Given the description of an element on the screen output the (x, y) to click on. 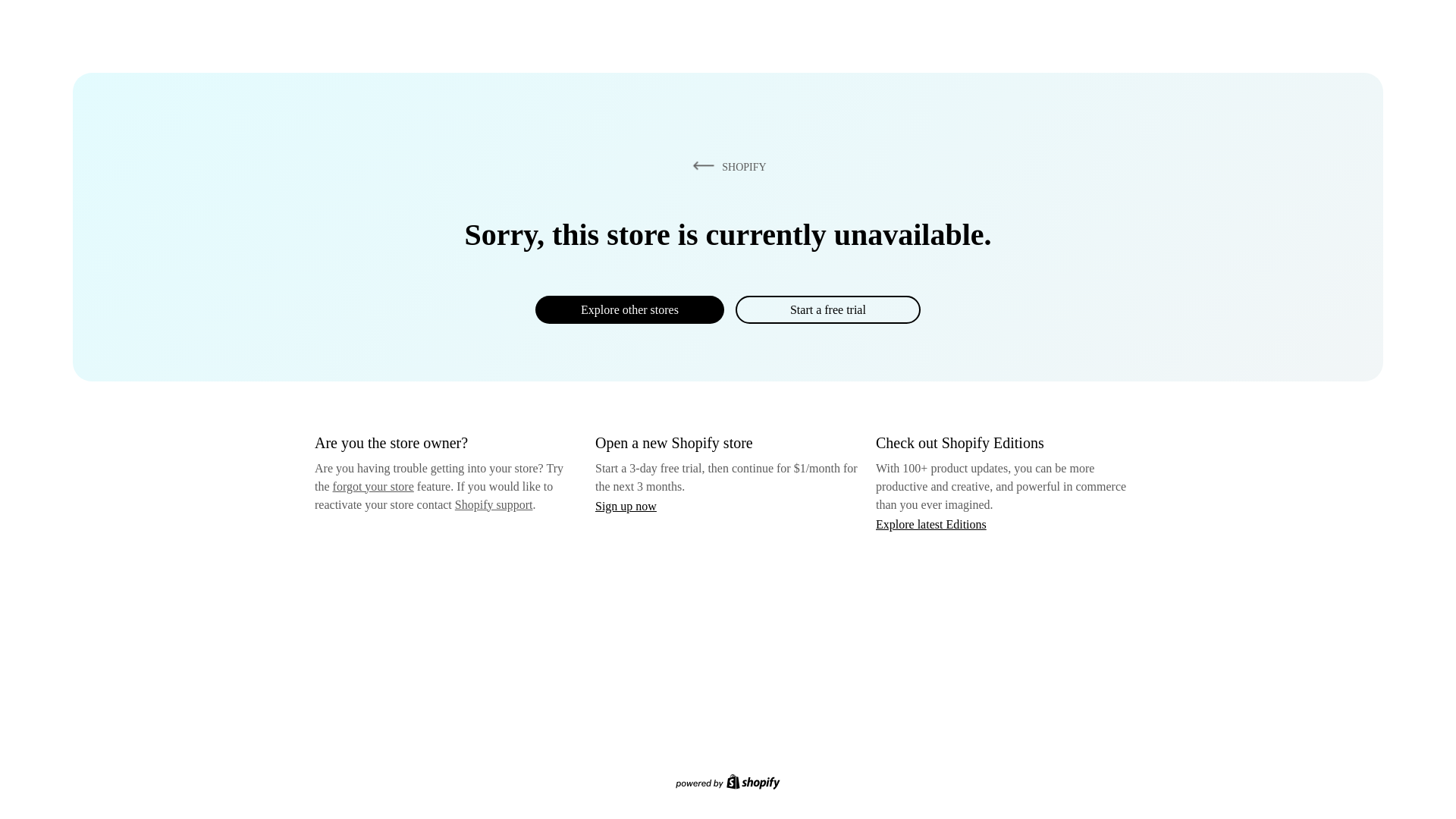
Explore latest Editions (931, 523)
Explore other stores (629, 309)
SHOPIFY (726, 166)
Start a free trial (827, 309)
Sign up now (625, 505)
Shopify support (493, 504)
forgot your store (373, 486)
